Given the description of an element on the screen output the (x, y) to click on. 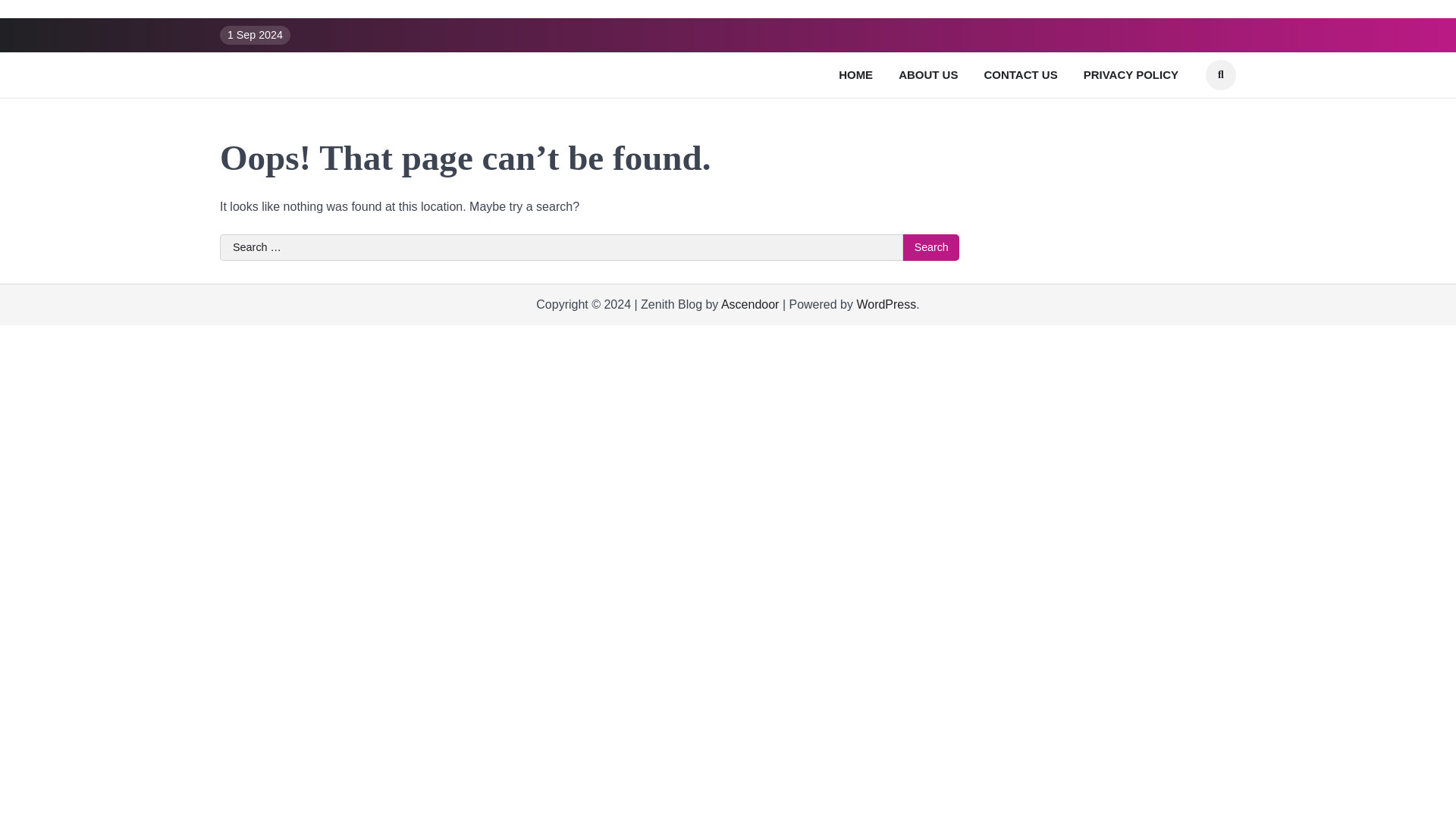
Search (1220, 74)
Search (930, 247)
Search (930, 247)
